Given the description of an element on the screen output the (x, y) to click on. 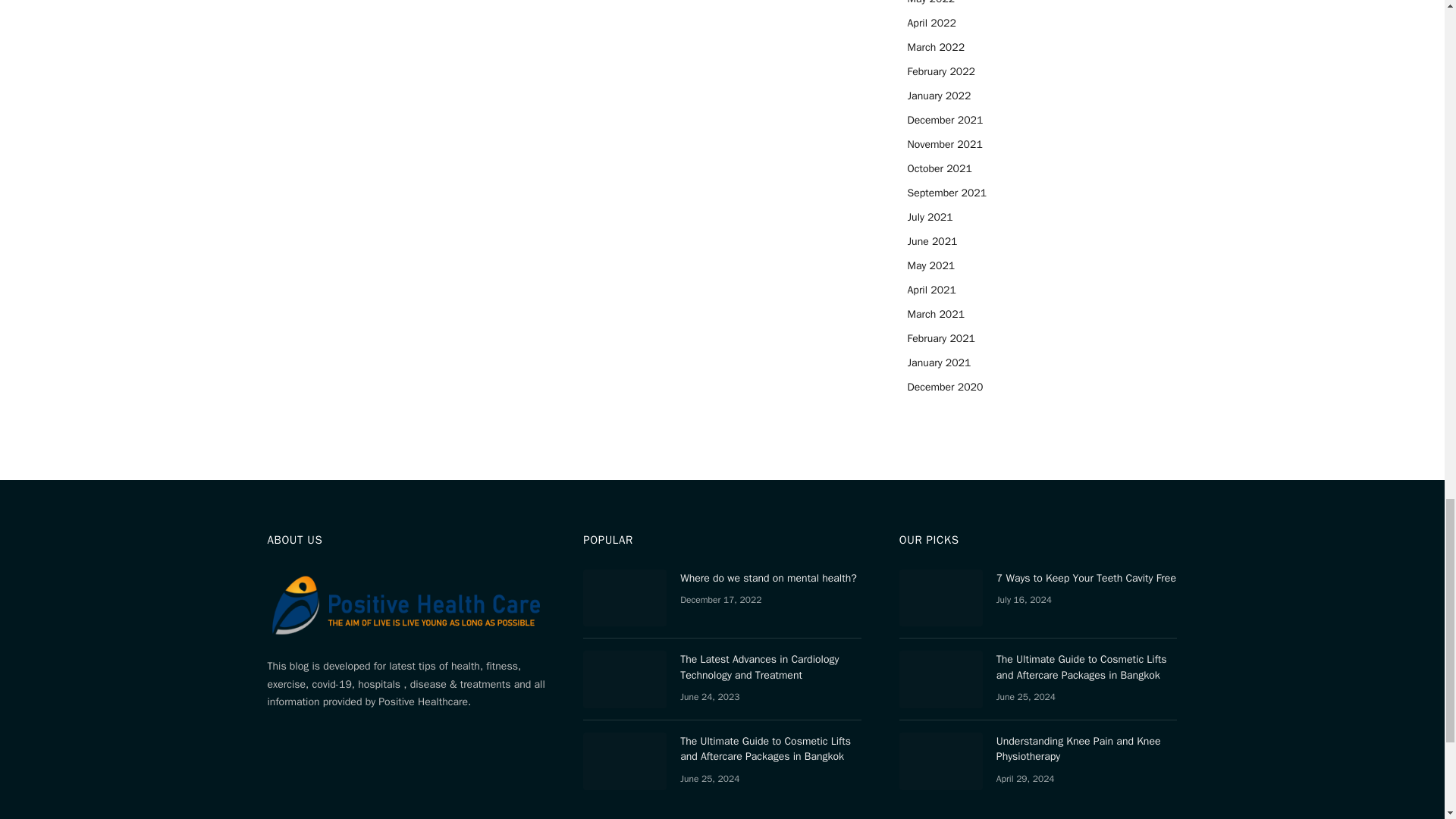
The Latest Advances in Cardiology Technology and Treatment (624, 679)
Where do we stand on mental health? (624, 597)
